Given the description of an element on the screen output the (x, y) to click on. 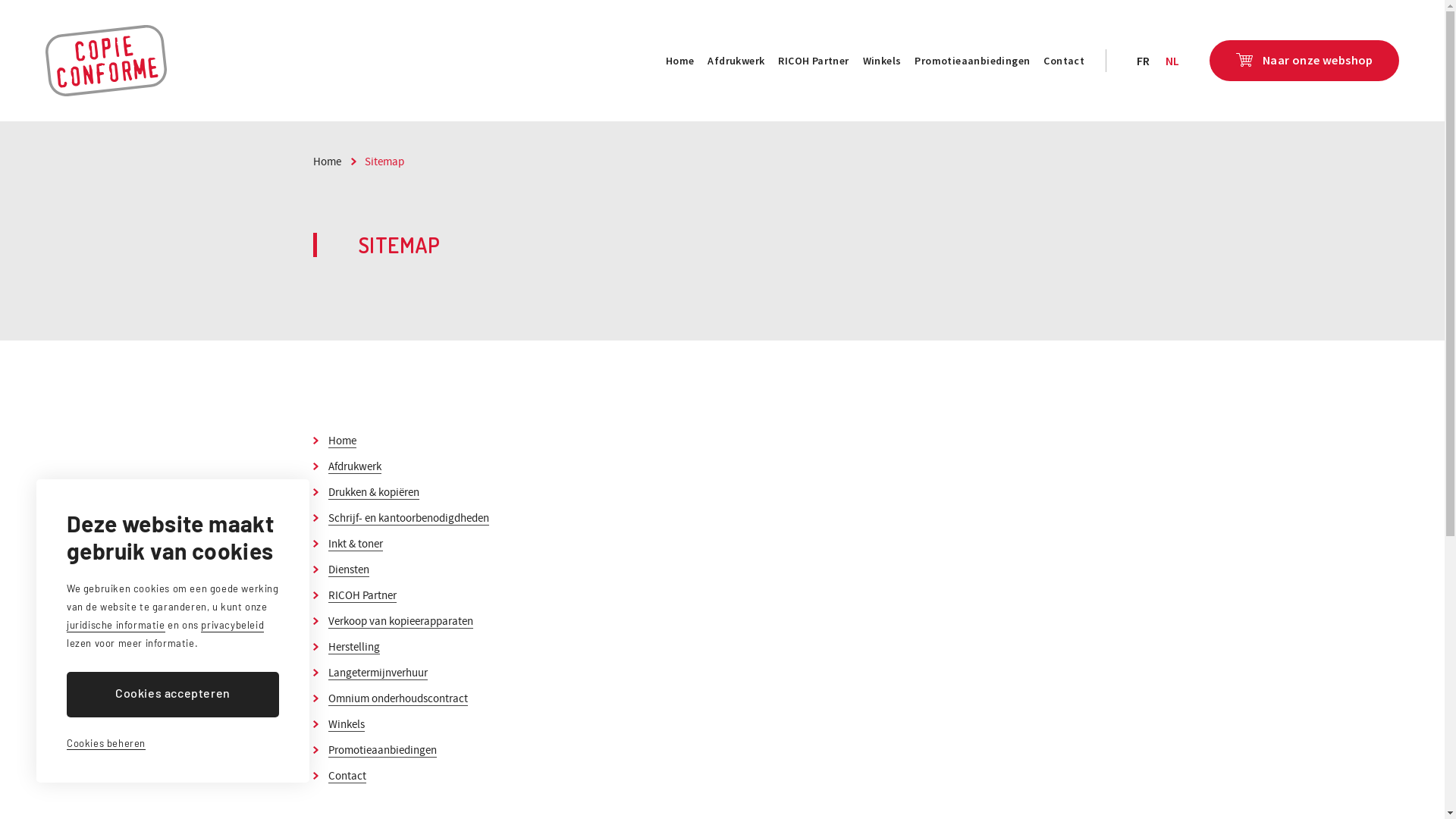
Afdrukwerk Element type: text (735, 60)
Copie Conforme Element type: hover (105, 60)
Verkoop van kopieerapparaten Element type: text (399, 620)
Contact Element type: text (1063, 60)
Herstelling Element type: text (353, 646)
Promotieaanbiedingen Element type: text (381, 749)
Schrijf- en kantoorbenodigdheden Element type: text (407, 517)
Langetermijnverhuur Element type: text (376, 672)
Naar onze webshop Element type: text (1304, 60)
NL Element type: text (1171, 60)
Winkels Element type: text (881, 60)
Home Element type: text (679, 60)
Promotieaanbiedingen Element type: text (971, 60)
RICOH Partner Element type: text (813, 60)
juridische informatie Element type: text (115, 625)
FR Element type: text (1143, 60)
Home Element type: text (333, 161)
Inkt & toner Element type: text (354, 543)
Afdrukwerk Element type: text (353, 465)
Sitemap Element type: text (383, 161)
RICOH Partner Element type: text (361, 594)
Contact Element type: text (346, 775)
Diensten Element type: text (347, 569)
Omnium onderhoudscontract Element type: text (397, 698)
Home Element type: text (341, 440)
privacybeleid Element type: text (231, 625)
Winkels Element type: text (345, 723)
